Given the description of an element on the screen output the (x, y) to click on. 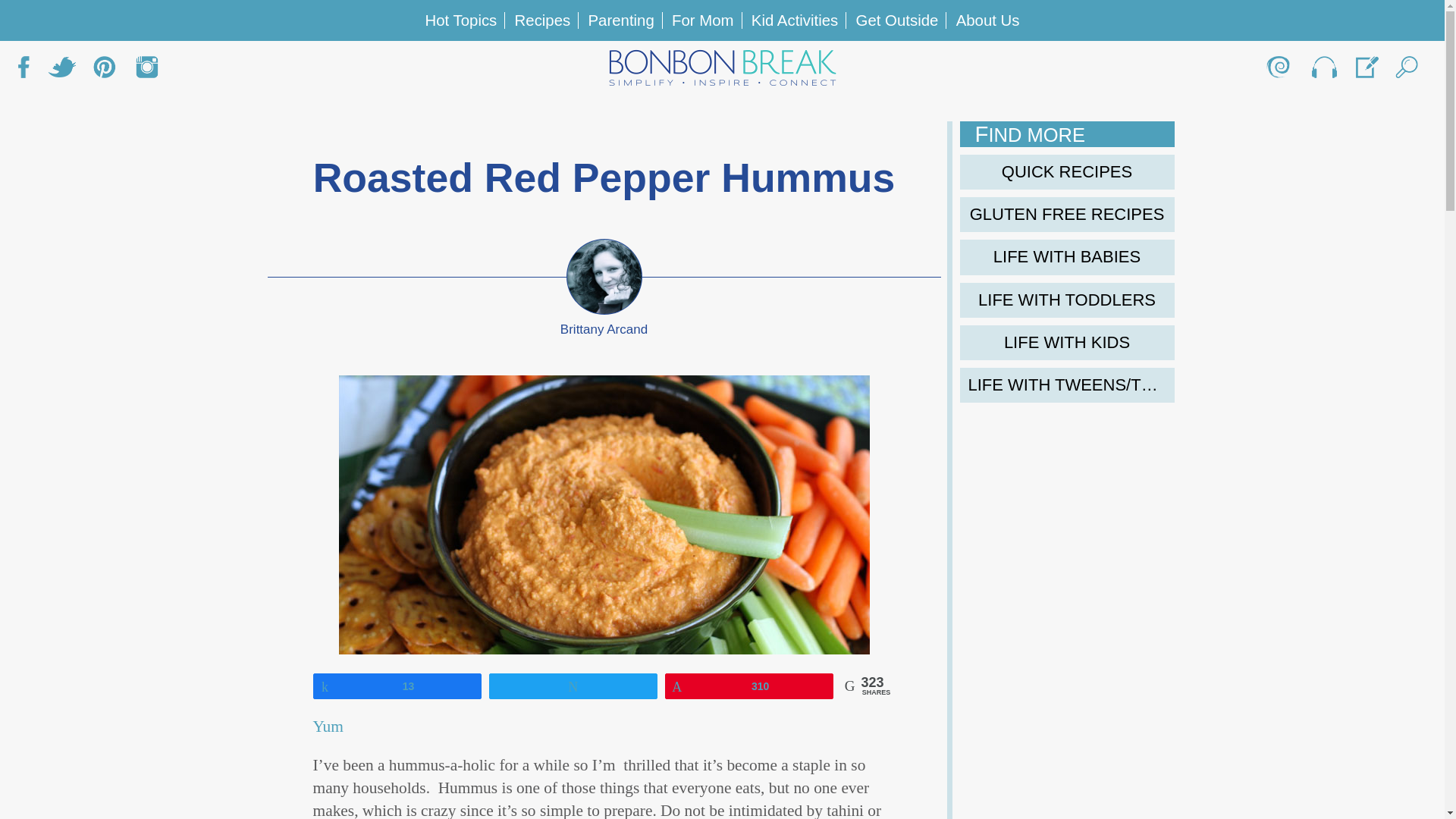
Hot Topics (460, 20)
Twitter (61, 71)
Life with kids (1066, 342)
Life with babies (1066, 256)
BonBon Submit (1365, 71)
310 (748, 685)
BonBon Live (1322, 71)
Life with toddlers (1066, 299)
Yum (327, 726)
About Us (988, 20)
About Us (1280, 71)
Quick Recipes (1066, 171)
Get Outside (897, 20)
Pinteret (103, 71)
13 (397, 685)
